Given the description of an element on the screen output the (x, y) to click on. 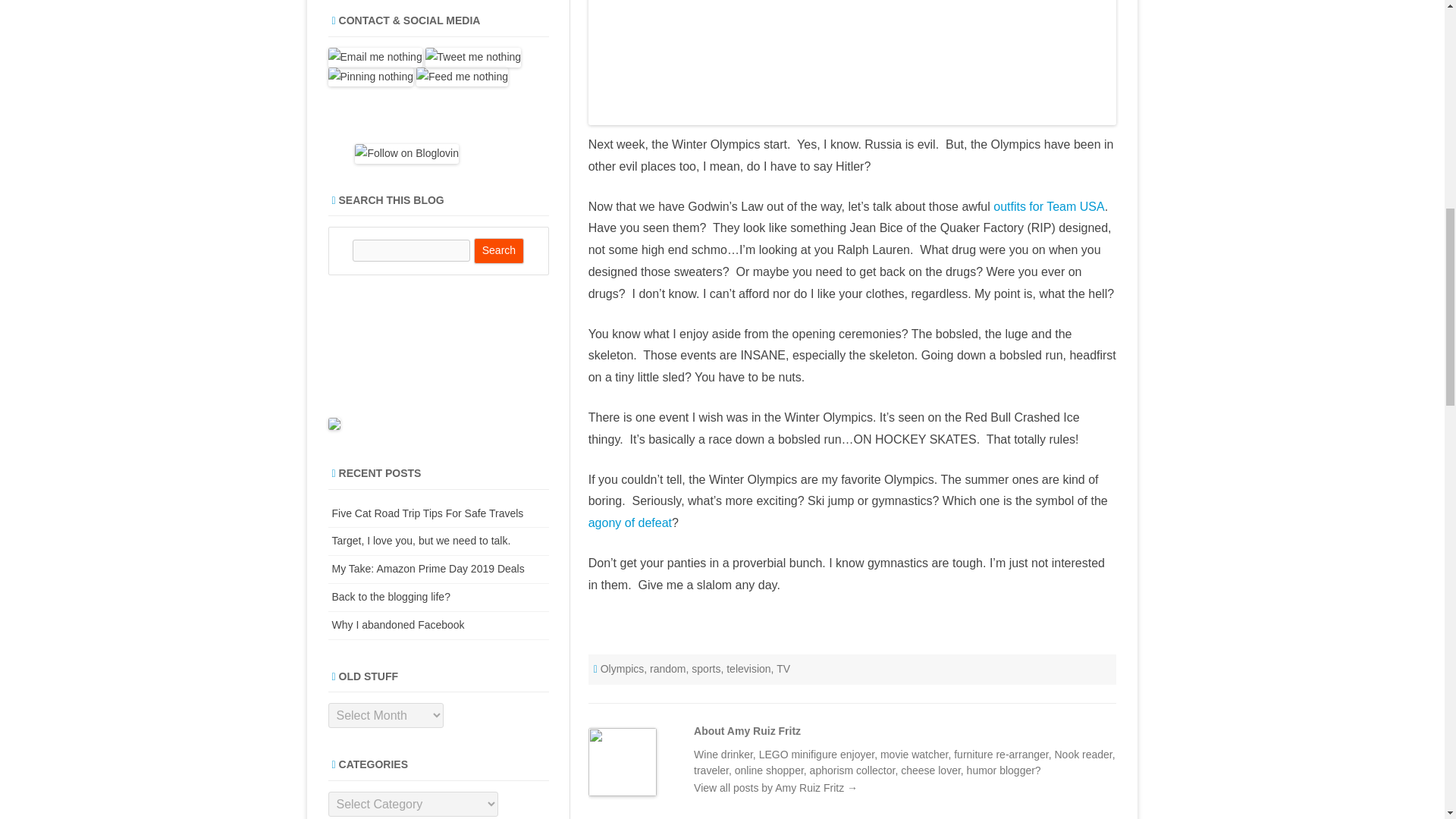
outfits for Team USA (1047, 205)
sports (705, 668)
TV (783, 668)
random (667, 668)
Search (499, 250)
Olympics (622, 668)
television (748, 668)
agony of defeat (629, 522)
Follow Chronicles of Nothing on Bloglovin (406, 152)
